Given the description of an element on the screen output the (x, y) to click on. 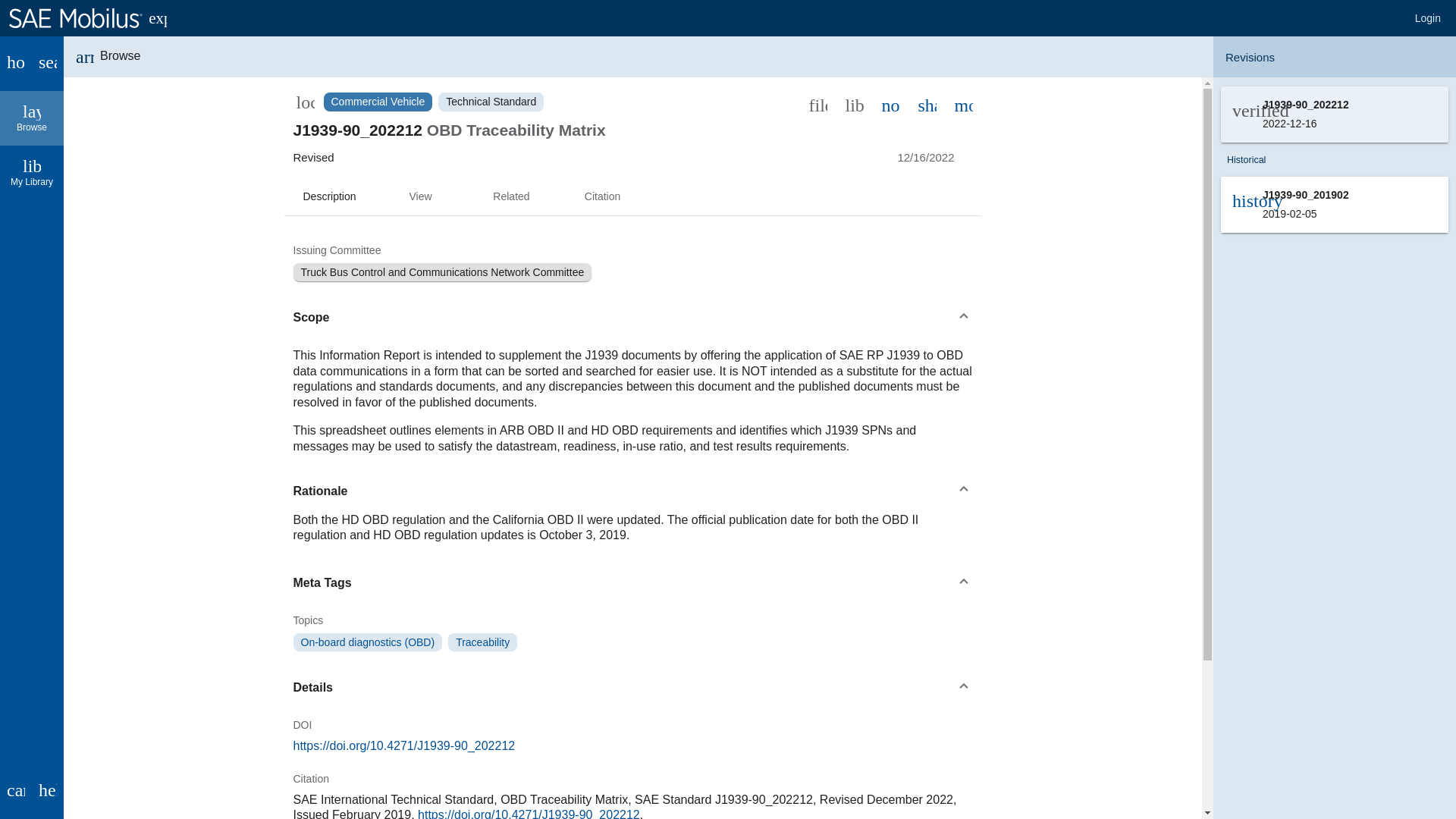
Description (328, 197)
Traceability (482, 642)
lock (304, 101)
Search (48, 63)
share (926, 104)
search (48, 63)
Truck Bus Control and Communications Network Committee (441, 272)
Related (510, 197)
Technical Standard (490, 101)
Login (1428, 17)
home (16, 63)
Citation (601, 197)
Commercial Vehicle (377, 101)
View (419, 197)
